Given the description of an element on the screen output the (x, y) to click on. 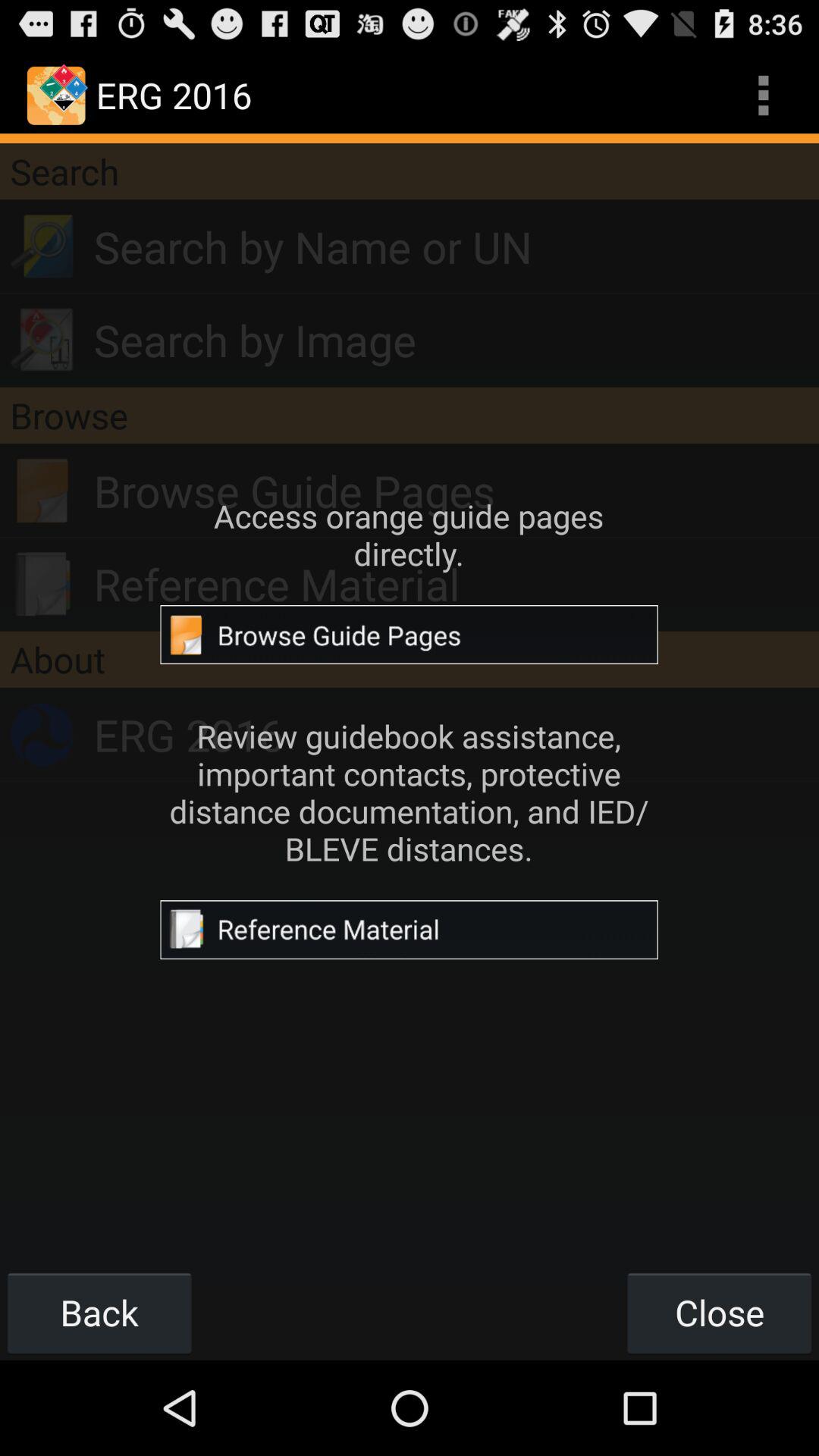
choose app below browse guide pages item (456, 584)
